Given the description of an element on the screen output the (x, y) to click on. 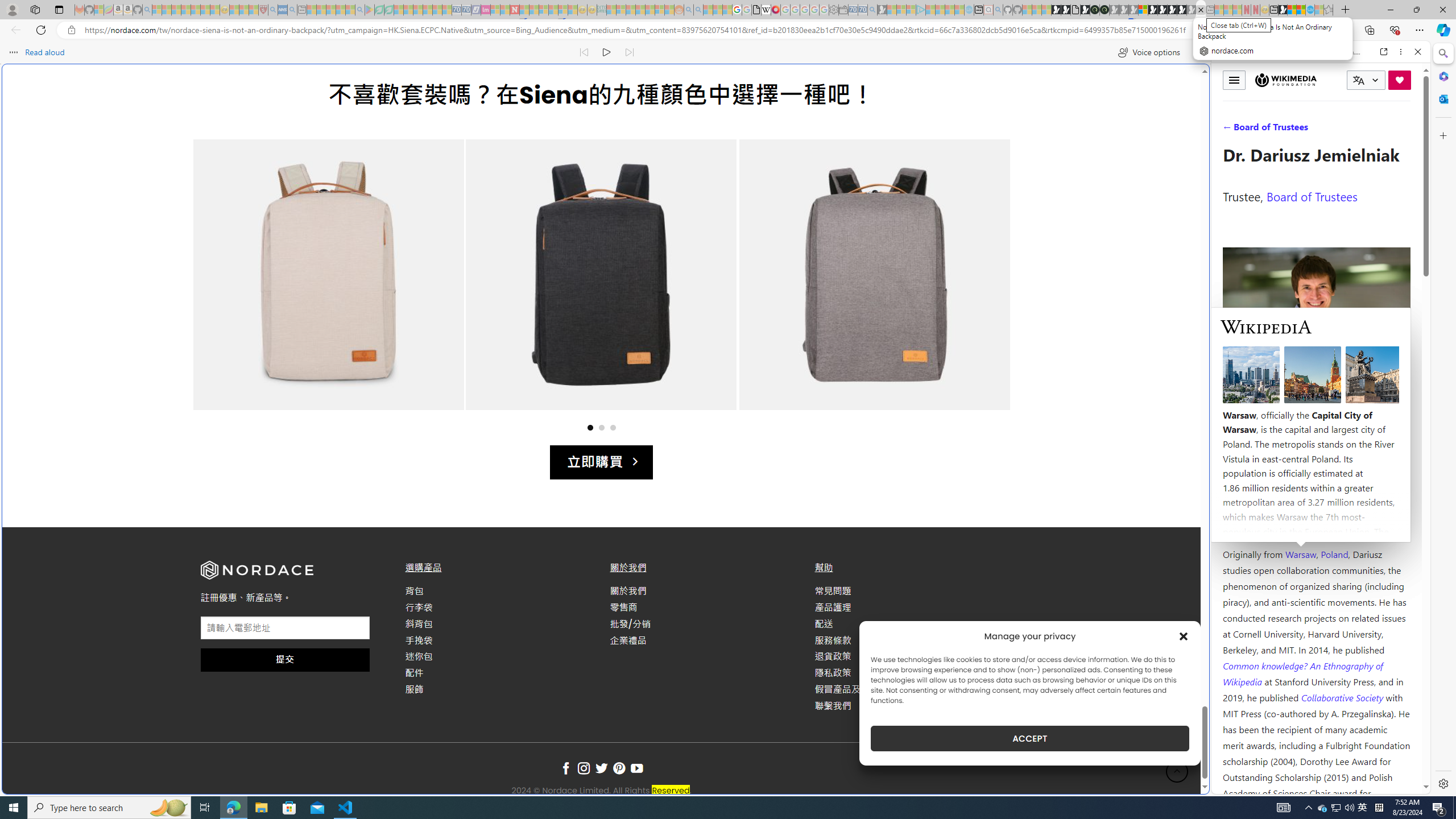
AutomationID: field_4_1 (284, 628)
Profile on Meta-Wiki (1273, 405)
Frequently visited (965, 151)
Read previous paragraph (583, 52)
